Given the description of an element on the screen output the (x, y) to click on. 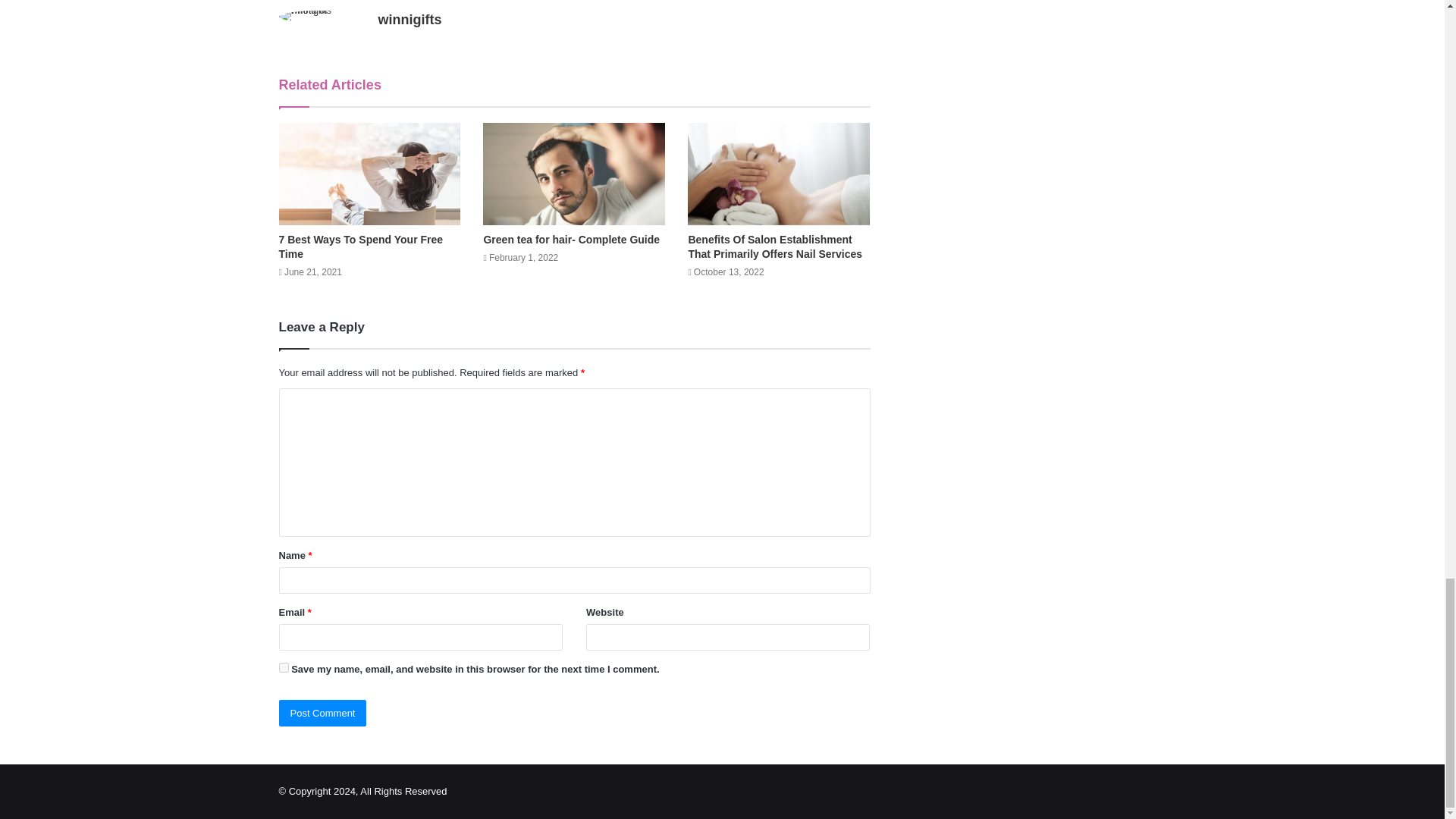
yes (283, 667)
Post Comment (322, 713)
winnigifts (409, 19)
